Given the description of an element on the screen output the (x, y) to click on. 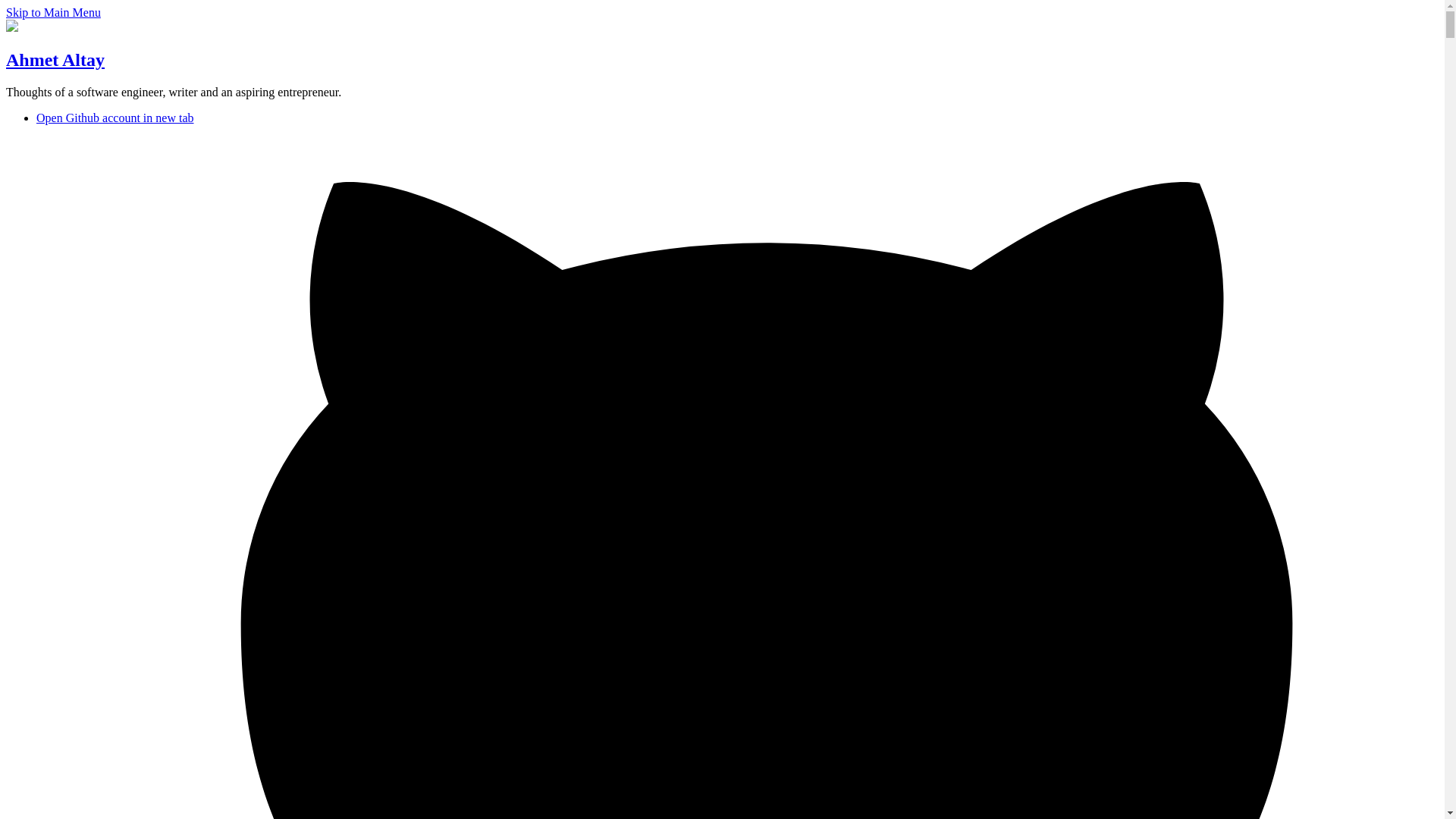
Ahmet Altay (54, 59)
Skip to Main Menu (52, 11)
